Given the description of an element on the screen output the (x, y) to click on. 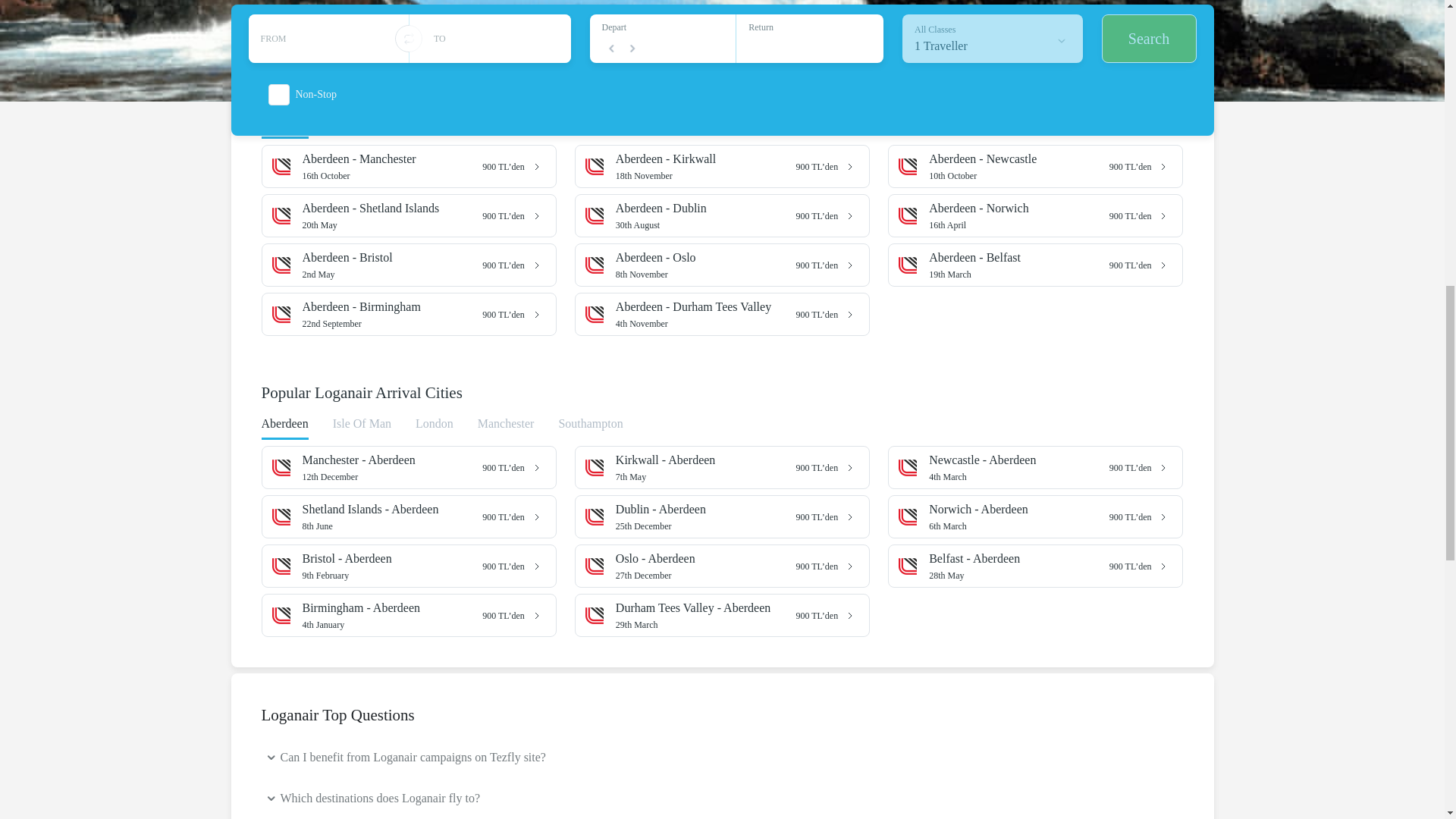
Aberdeen - Shetland Islands (1019, 165)
Aberdeen - Manchester (392, 314)
Aberdeen - Bristol (386, 208)
Aberdeen - Kirkwall (386, 159)
Manchester (392, 215)
Birmingham (386, 257)
